Given the description of an element on the screen output the (x, y) to click on. 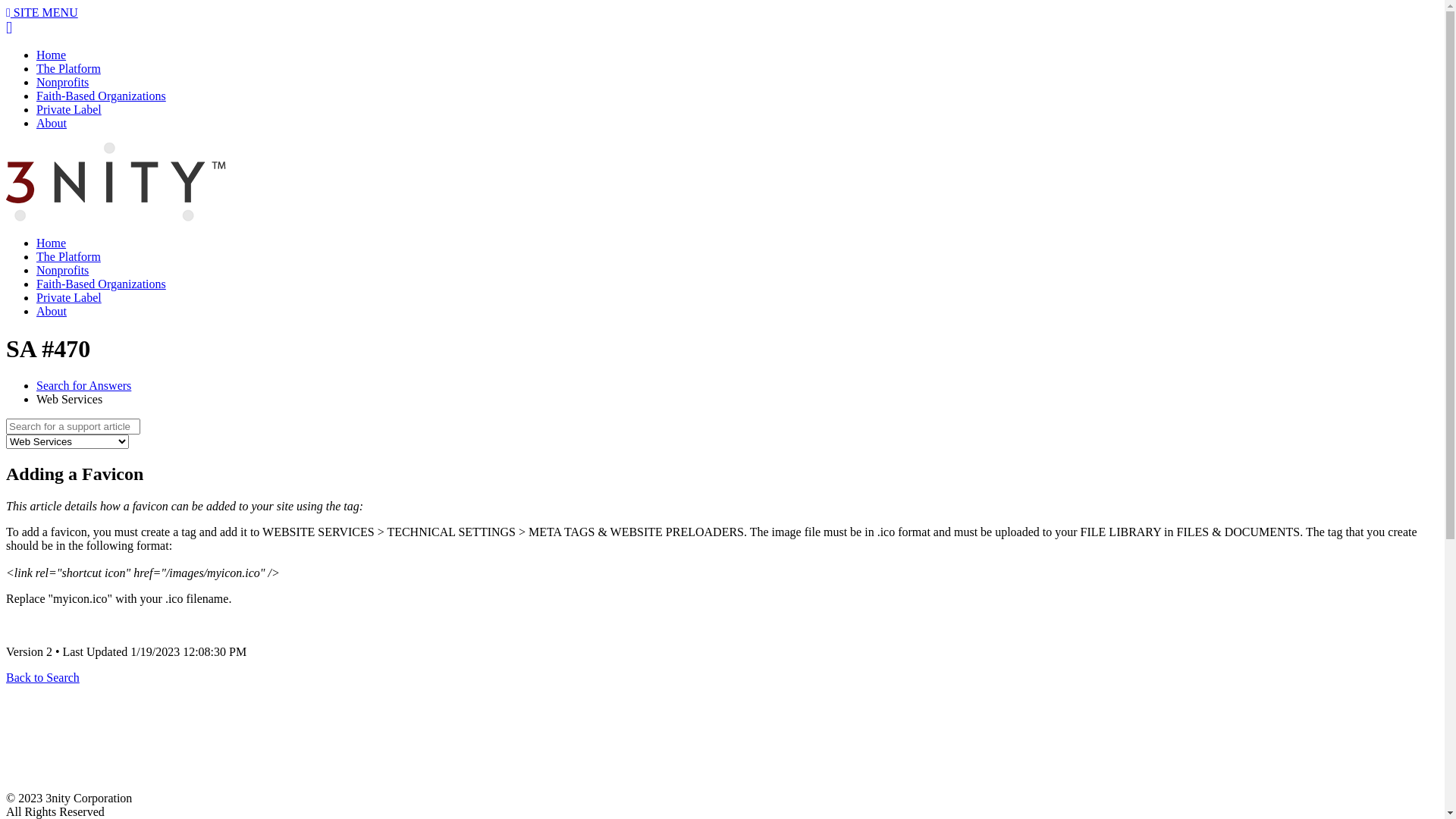
Faith-Based Organizations Element type: text (101, 95)
Nonprofits Element type: text (62, 269)
Faith-Based Organizations Element type: text (101, 283)
Home Element type: text (50, 242)
Nonprofits Element type: text (62, 81)
The Platform Element type: text (68, 68)
Private Label Element type: text (68, 109)
Back to Search Element type: text (42, 677)
About Element type: text (51, 310)
Search for Answers Element type: text (83, 385)
Home Element type: text (50, 54)
Private Label Element type: text (68, 297)
About Element type: text (51, 122)
SITE MENU Element type: text (42, 12)
The Platform Element type: text (68, 256)
